Given the description of an element on the screen output the (x, y) to click on. 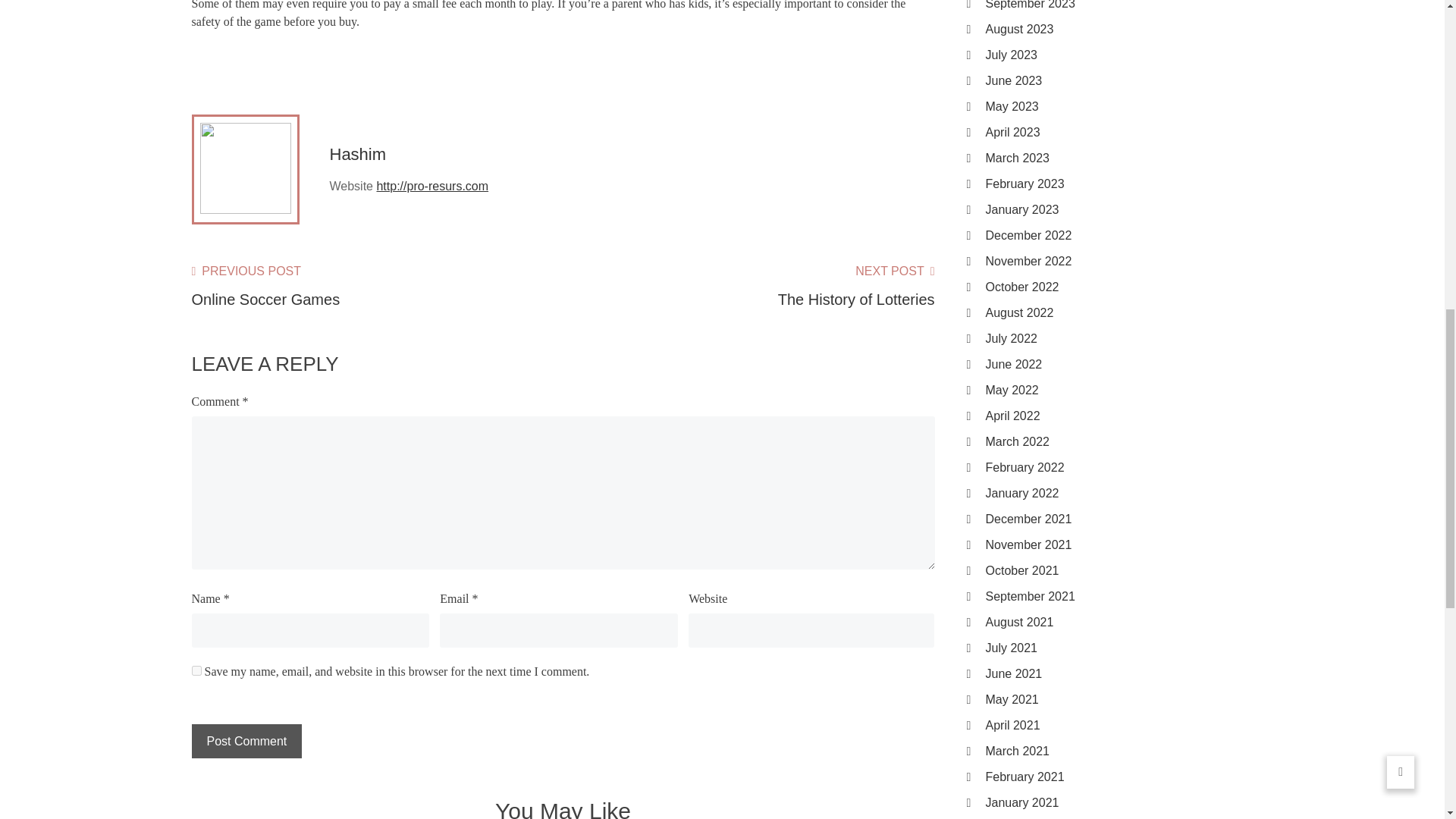
yes (195, 670)
September 2023 (1119, 6)
Post Comment (245, 740)
Post Comment (245, 740)
Hashim (357, 153)
Posts by Hashim (357, 153)
